Given the description of an element on the screen output the (x, y) to click on. 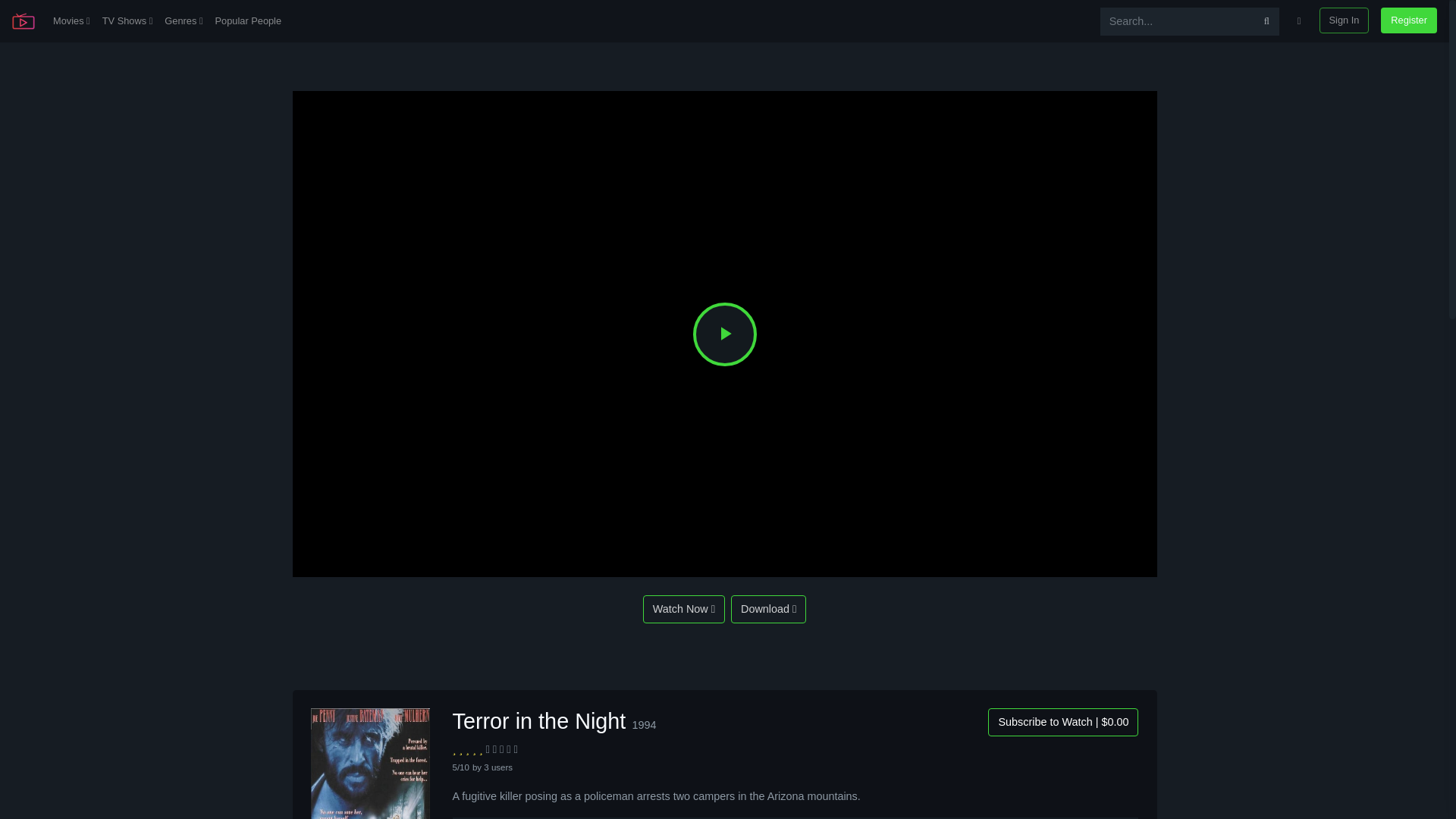
TV Shows (127, 21)
Movies (71, 21)
